Given the description of an element on the screen output the (x, y) to click on. 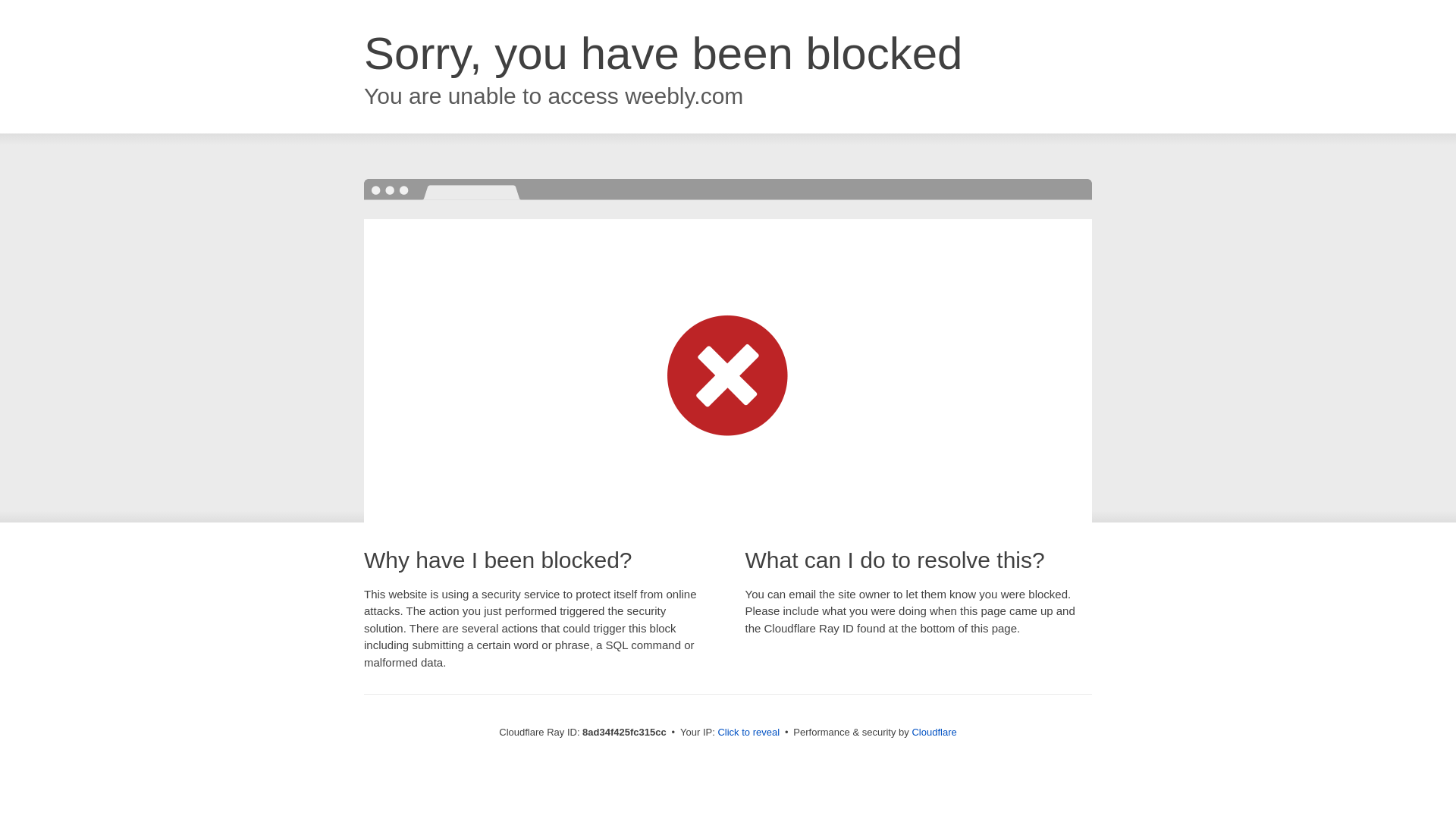
Cloudflare (933, 731)
Click to reveal (747, 732)
